Given the description of an element on the screen output the (x, y) to click on. 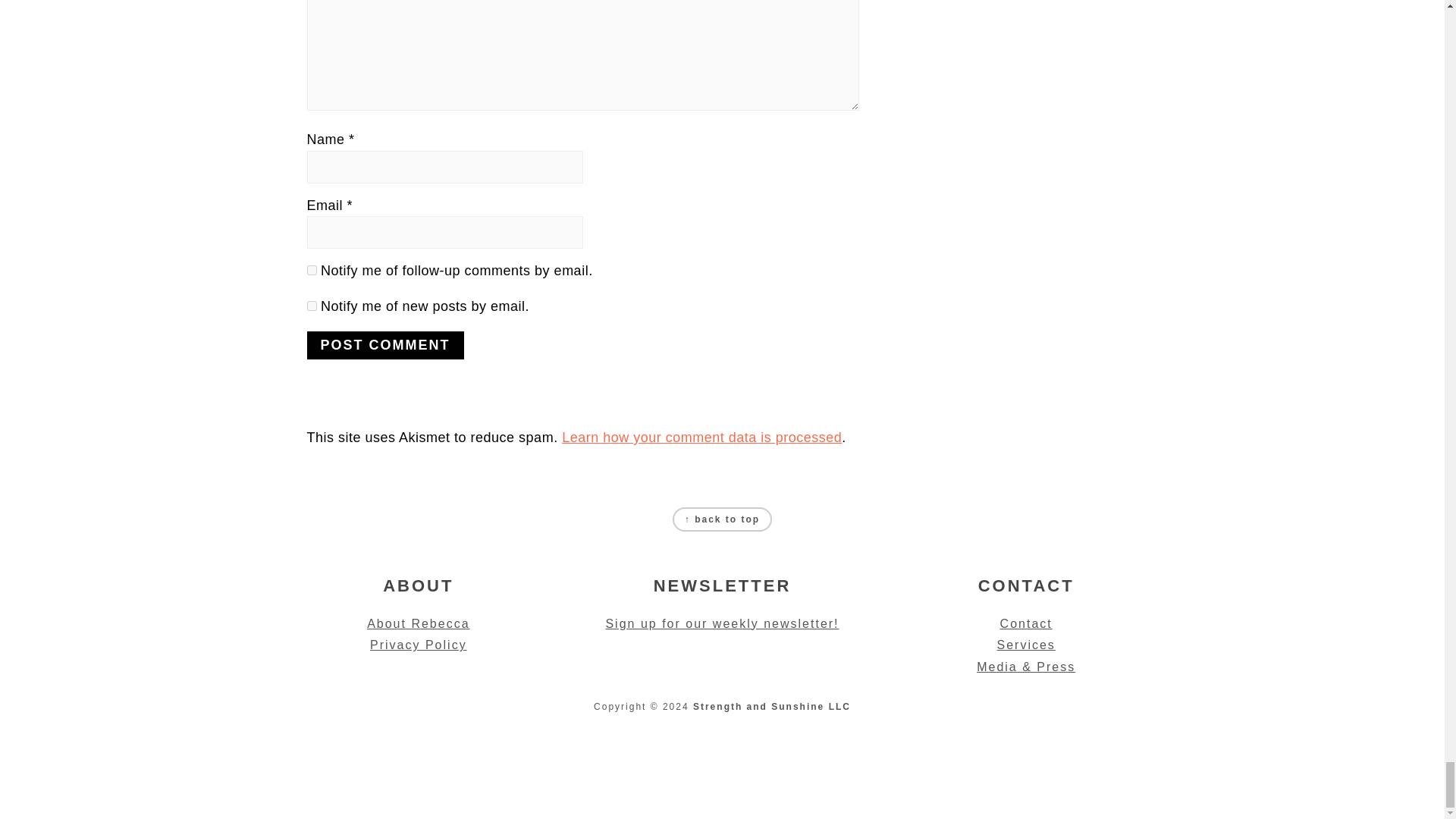
subscribe (310, 306)
subscribe (310, 270)
Post Comment (384, 345)
